Given the description of an element on the screen output the (x, y) to click on. 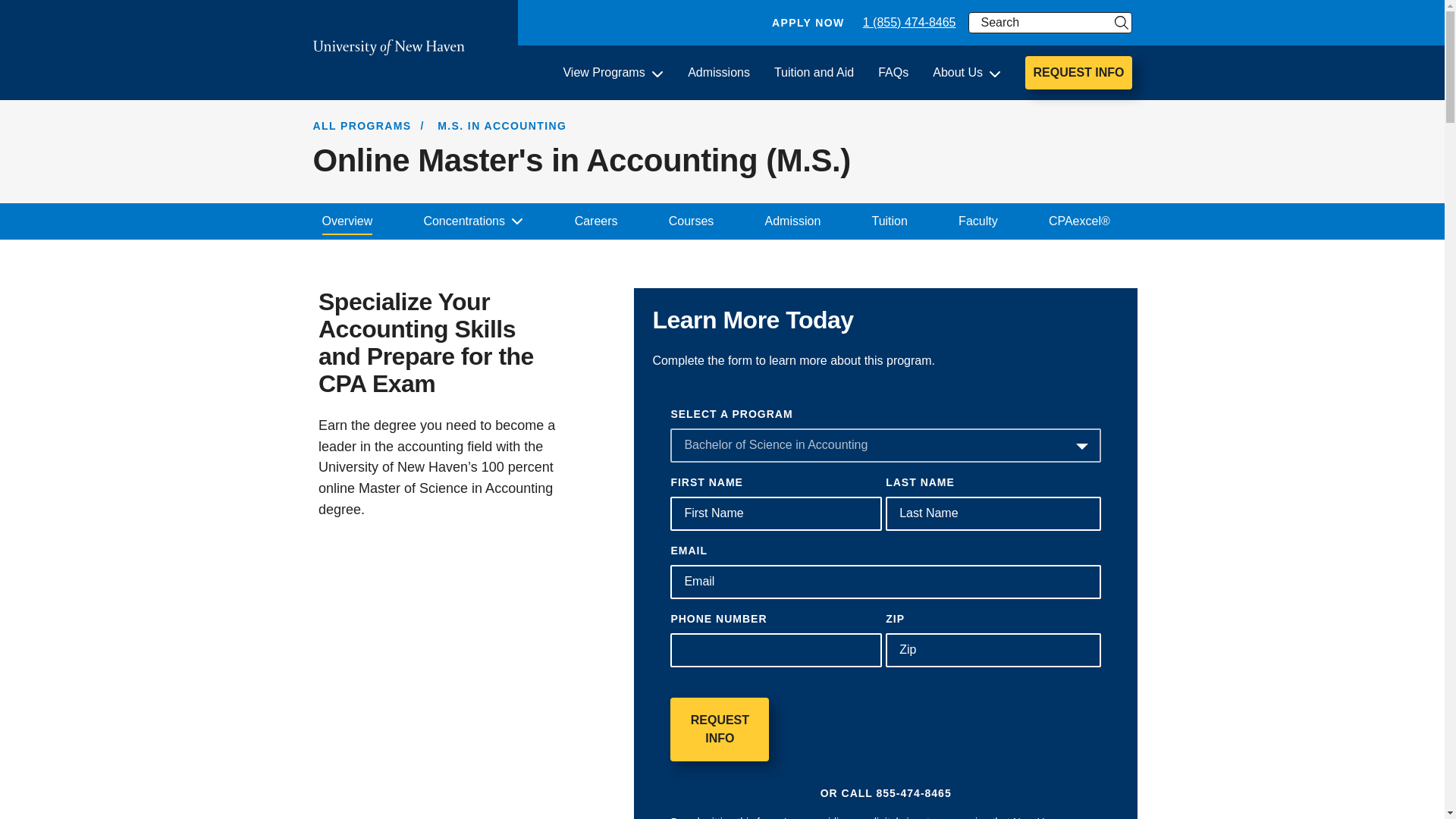
REQUEST INFO (1078, 72)
submit search (1121, 22)
Tuition (888, 221)
ALL PROGRAMS (361, 125)
Admissions (718, 72)
Concentrations (472, 221)
Courses (691, 221)
About Us (967, 72)
View Programs (612, 72)
University of New Haven (388, 47)
